Given the description of an element on the screen output the (x, y) to click on. 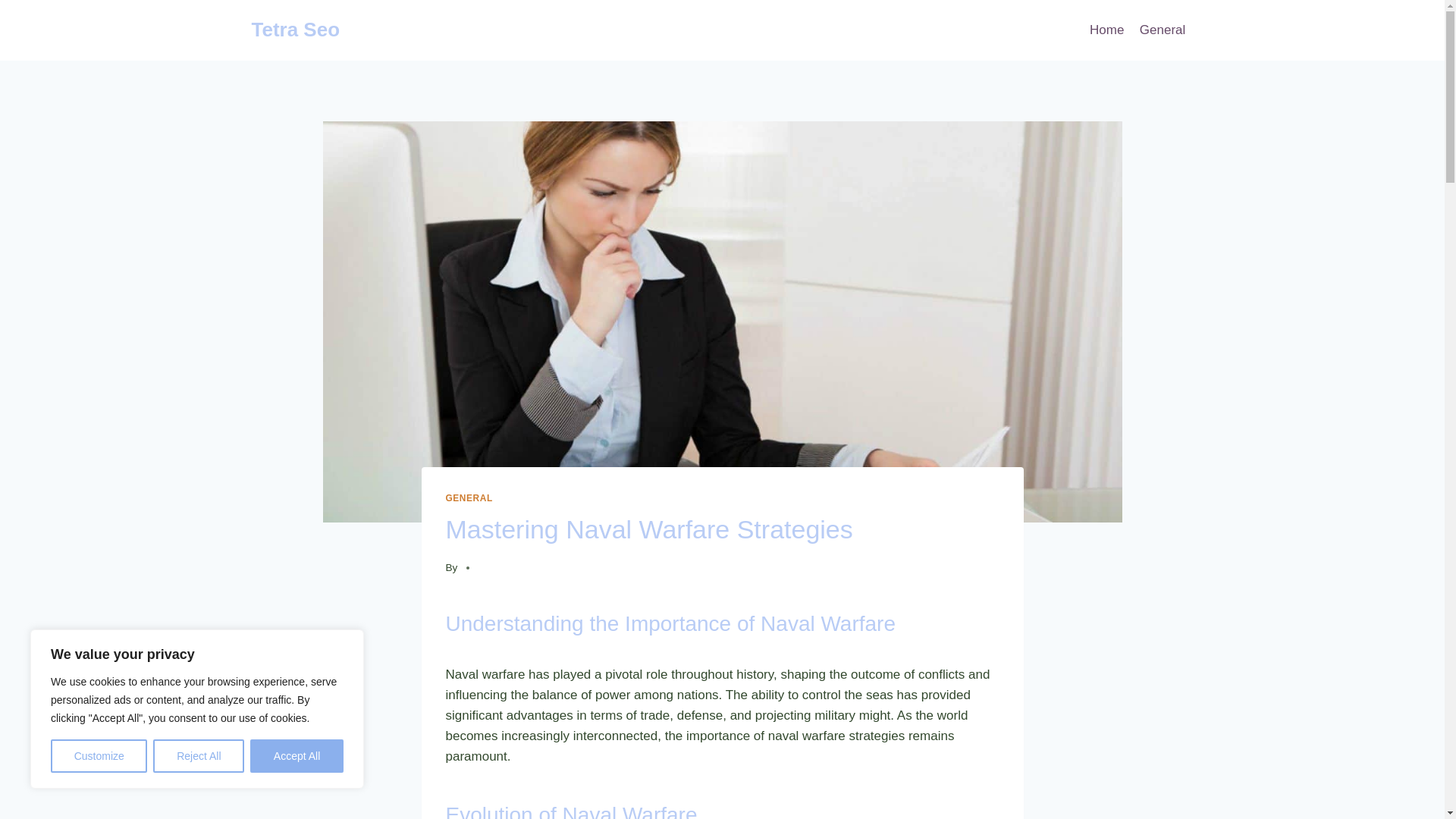
Home (1106, 30)
Customize (98, 756)
Tetra Seo (295, 29)
General (1162, 30)
Reject All (198, 756)
GENERAL (469, 498)
Accept All (296, 756)
